Given the description of an element on the screen output the (x, y) to click on. 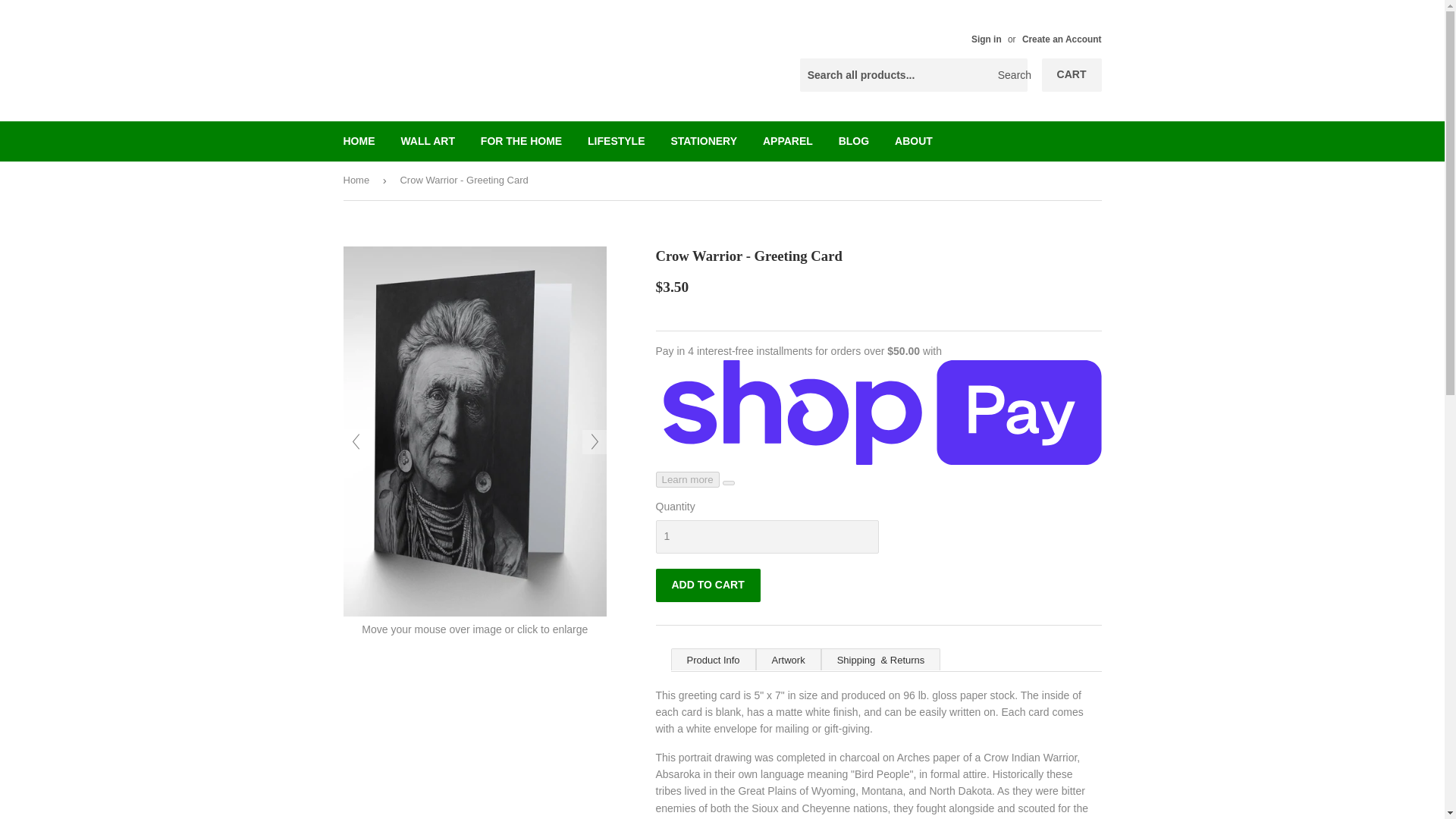
1 (766, 536)
CART (1072, 74)
Crow Warrior - Greeting Card (474, 612)
Create an Account (1062, 39)
Search (1009, 75)
Sign in (986, 39)
